Given the description of an element on the screen output the (x, y) to click on. 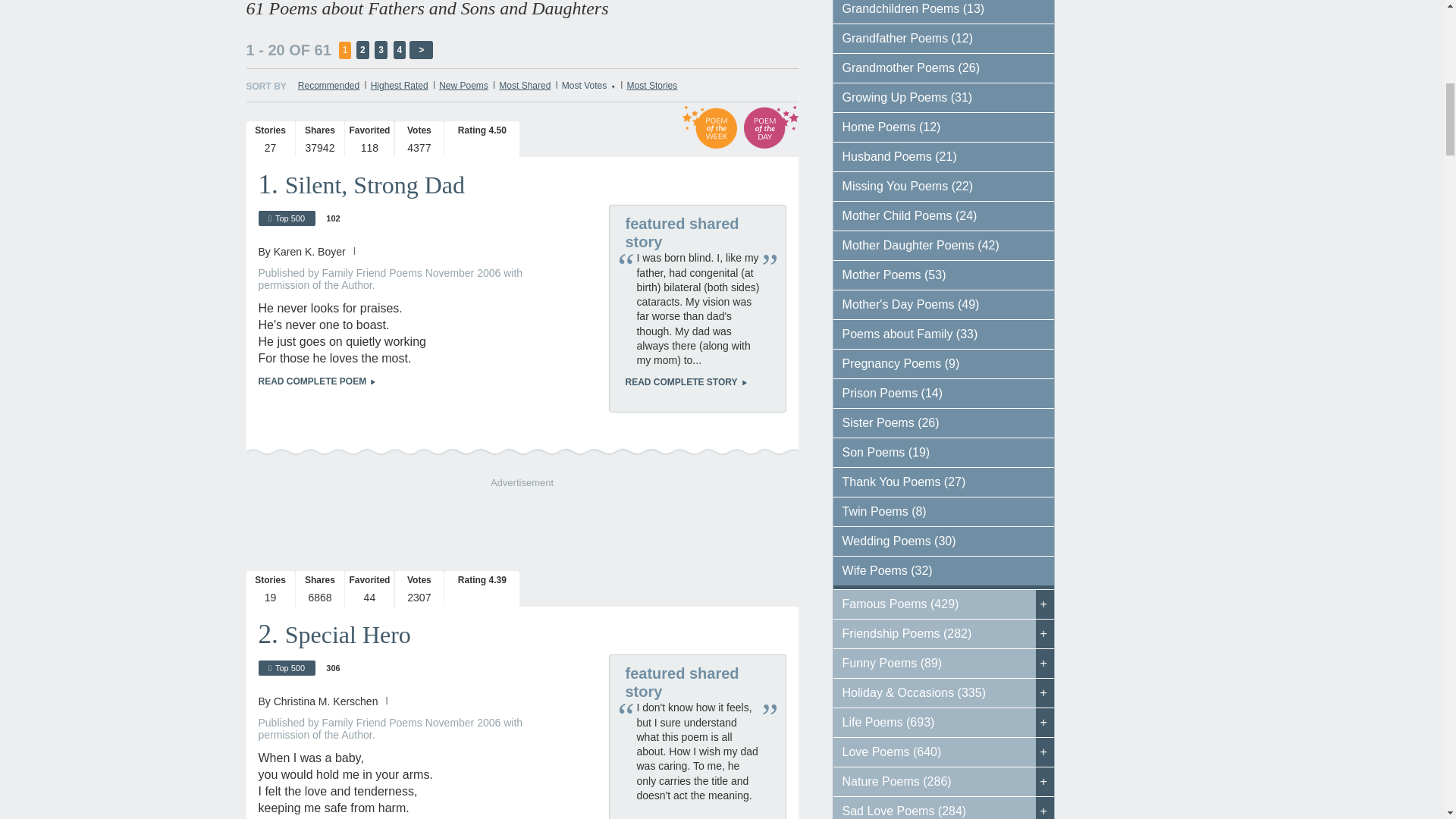
Poem of the Day: 02-09-2023 (769, 126)
Sort by Most Comments (652, 85)
Poem of the Week: 04-18-2023 (709, 126)
Sort by Newest (463, 85)
Sort by Most Votes (588, 85)
Sort by Highest Ratings (399, 85)
Sort by Shares (524, 85)
Sort by Recommended (328, 85)
